Given the description of an element on the screen output the (x, y) to click on. 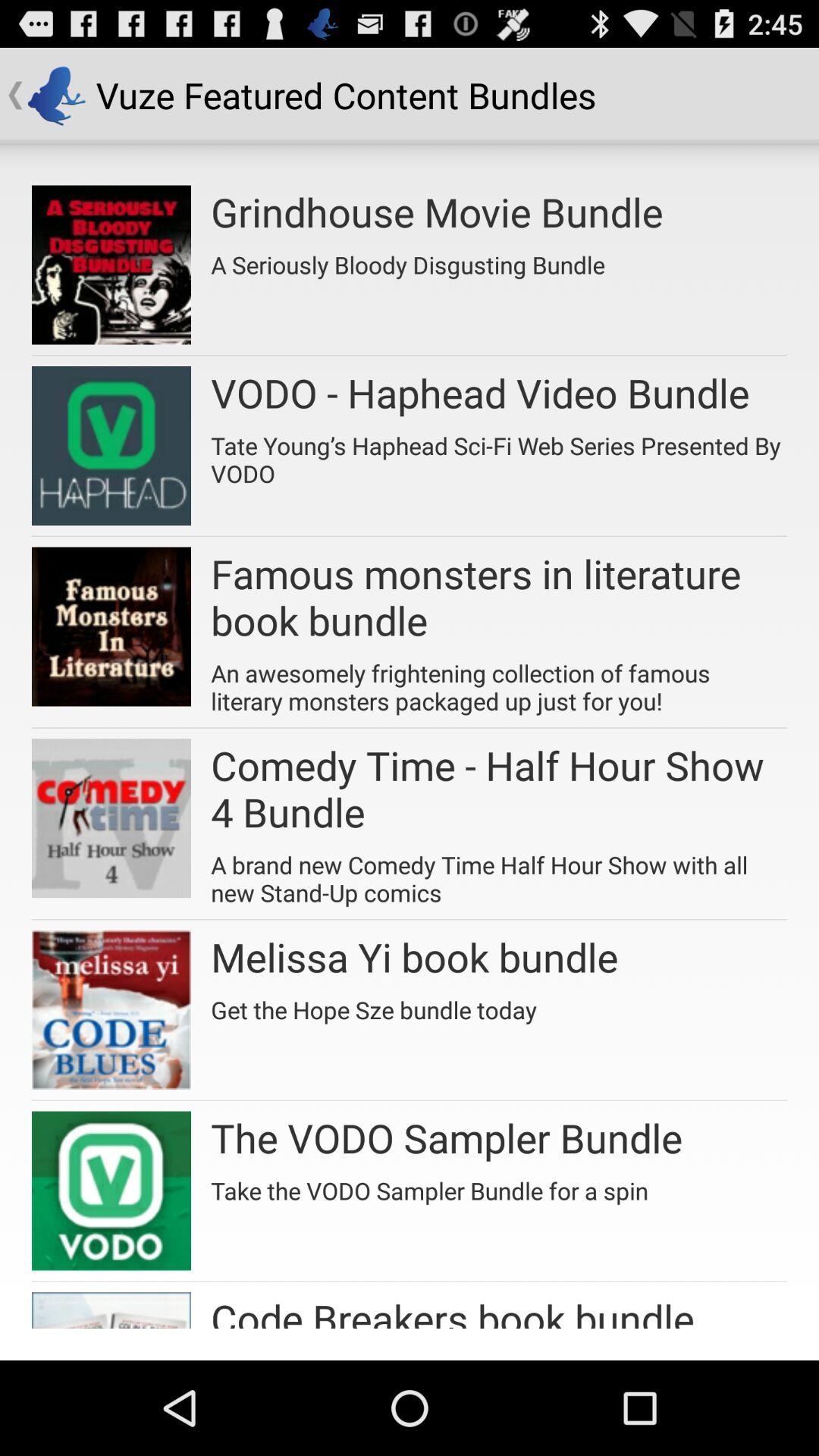
tap the app below vodo haphead video item (499, 454)
